Given the description of an element on the screen output the (x, y) to click on. 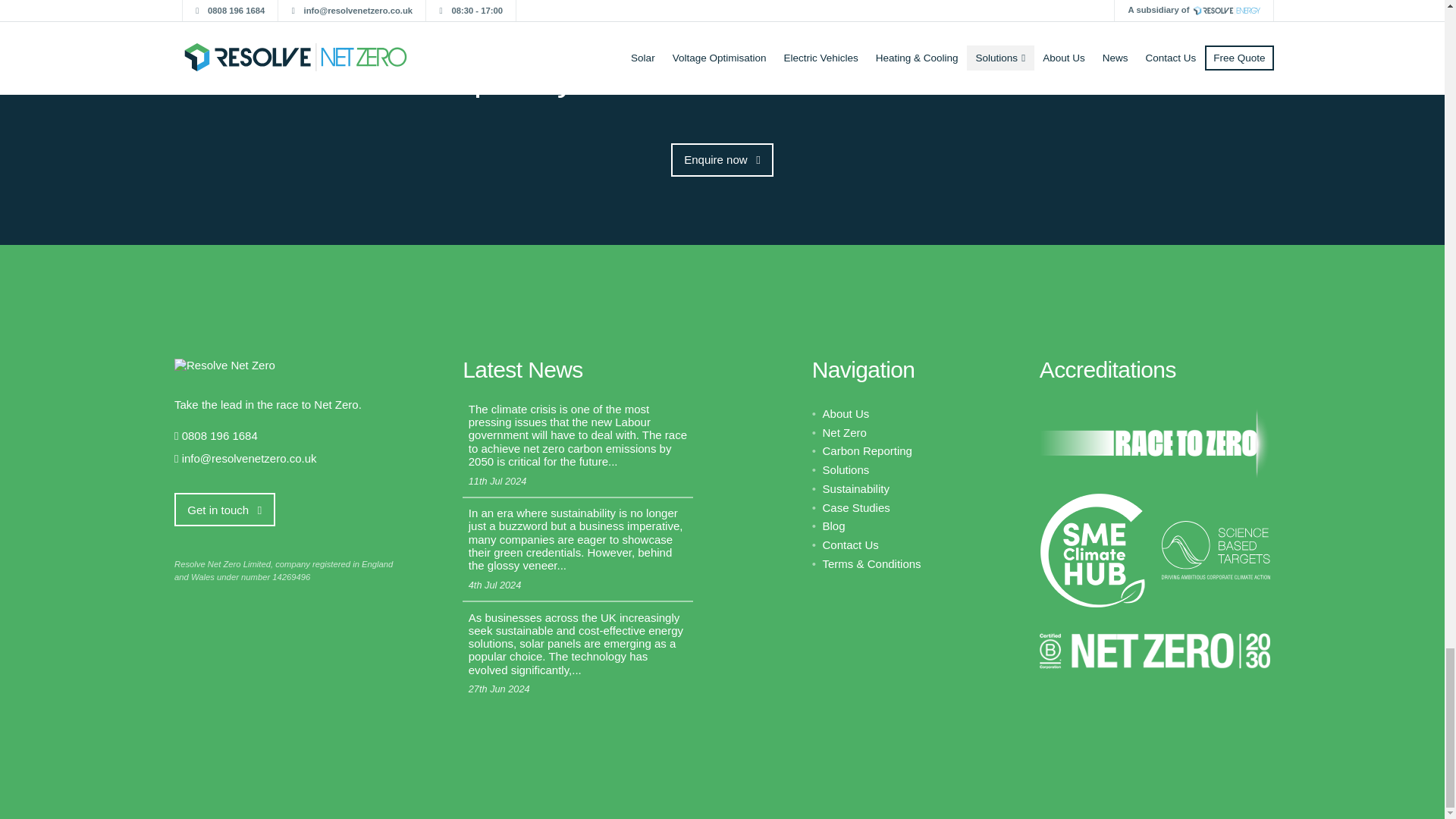
Different types of solar panels for businesses (578, 652)
Enquire now (722, 159)
Get in touch (224, 509)
How the Labour Government will reach net zero goals (578, 445)
How carbon offsetting masks corporate pollution (578, 549)
0808 196 1684 (219, 435)
